Given the description of an element on the screen output the (x, y) to click on. 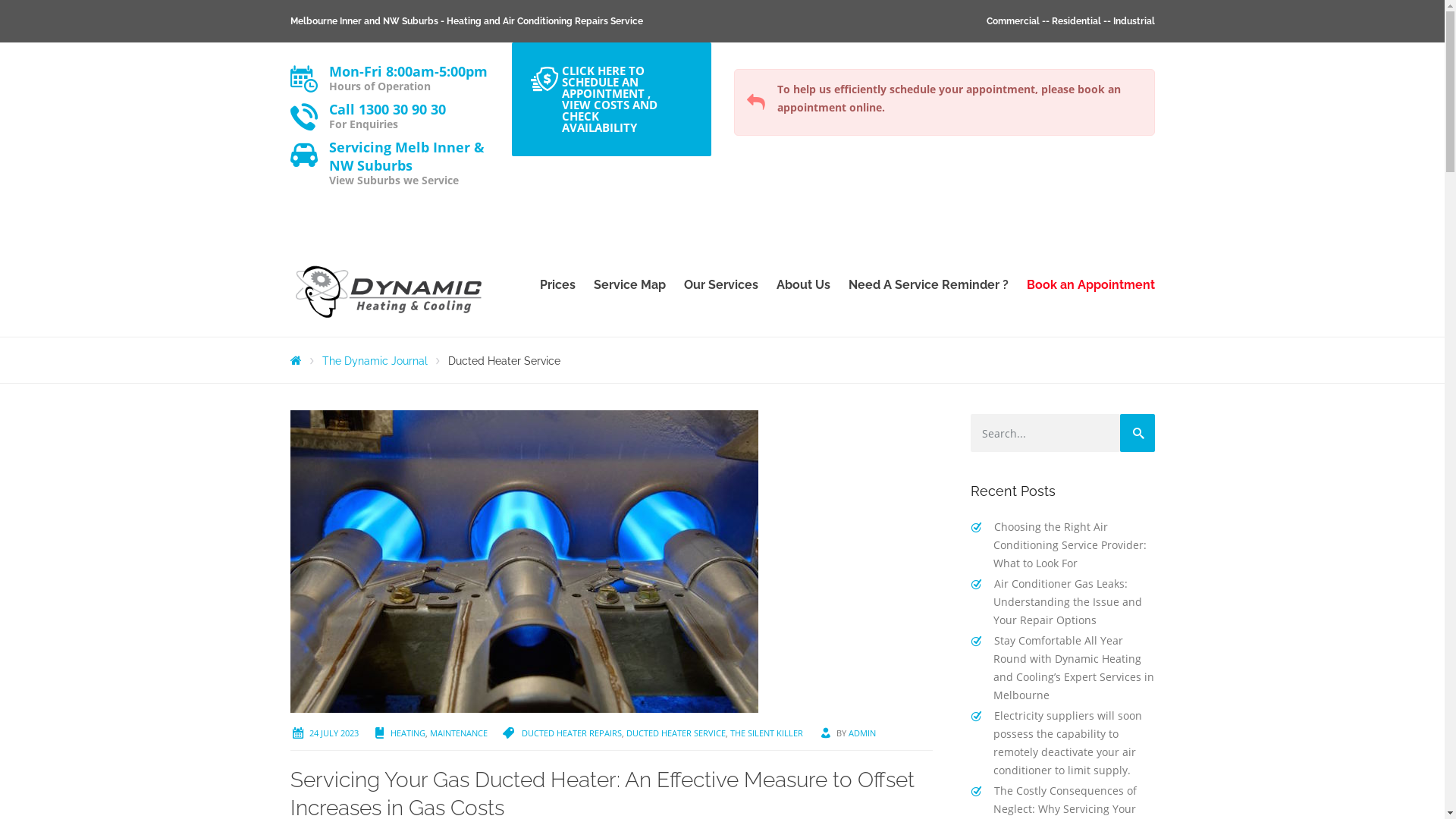
About Us Element type: text (803, 284)
Hours of Operation Element type: text (379, 85)
Need A Service Reminder ? Element type: text (927, 284)
HEATING Element type: text (406, 732)
Online Appointment Element type: hover (544, 78)
Service Map Element type: text (628, 284)
Prices Element type: text (557, 284)
Commercial -- Residential -- Industrial Element type: text (1069, 20)
For Enquiries Element type: text (363, 123)
DUCTED HEATER REPAIRS Element type: text (571, 732)
24 JULY 2023 Element type: text (333, 732)
Servicing Melb Inner & NW Suburbs Element type: text (406, 156)
Dynamic-HeatCool-logo-for-web black Element type: hover (388, 292)
THE SILENT KILLER Element type: text (765, 732)
Book an Appointment Element type: text (1085, 284)
MAINTENANCE Element type: text (457, 732)
Mon-Fri 8:00am-5:00pm Element type: text (408, 71)
DUCTED HEATER SERVICE Element type: text (675, 732)
View Suburbs we Service Element type: text (393, 179)
The Dynamic Journal Element type: text (373, 360)
Call 1300 30 90 30 Element type: text (387, 109)
Our Services Element type: text (720, 284)
ADMIN Element type: text (861, 732)
